Given the description of an element on the screen output the (x, y) to click on. 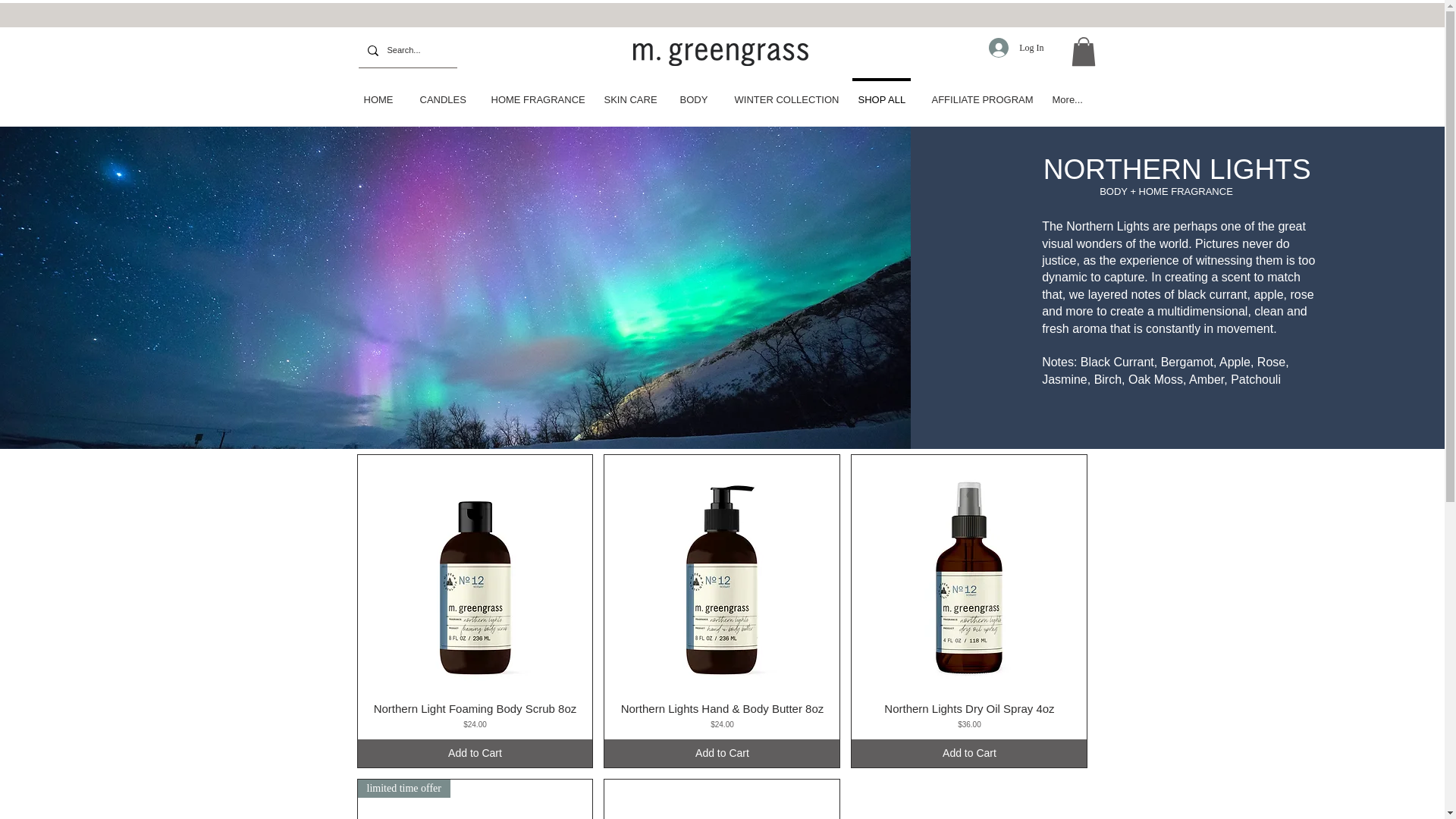
Add to Cart (475, 753)
BODY (692, 92)
SKIN CARE (627, 92)
Add to Cart (968, 753)
SHOP ALL (881, 92)
limited time offer (475, 799)
Log In (1016, 47)
Add to Cart (722, 753)
HOME FRAGRANCE (534, 92)
AFFILIATE PROGRAM (977, 92)
